Given the description of an element on the screen output the (x, y) to click on. 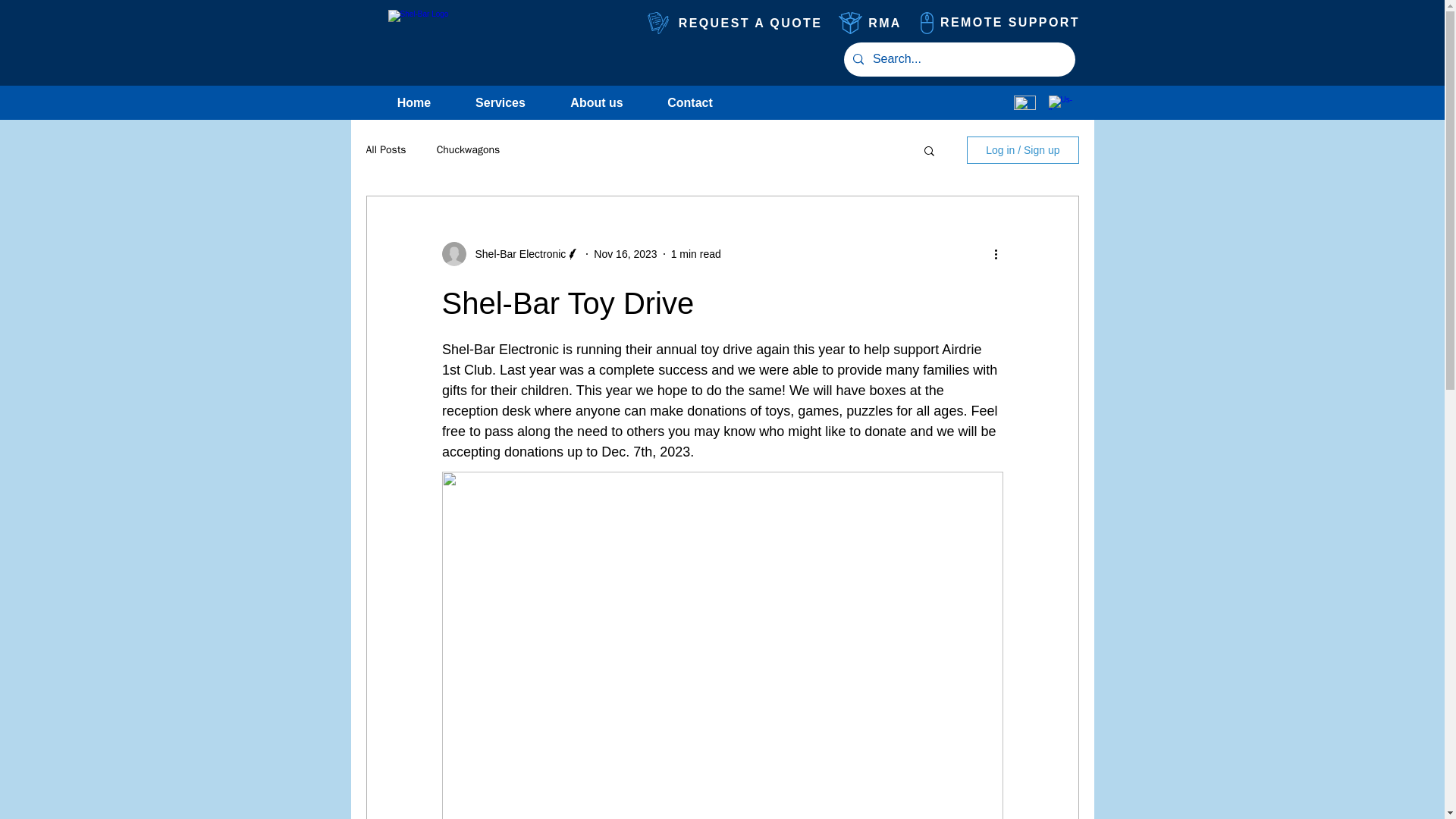
REQUEST A QUOTE (751, 23)
 Shel-Bar Electronic (515, 253)
RMA (885, 23)
1 min read (695, 253)
Contact (690, 102)
About us (596, 102)
Services (499, 102)
Home (413, 102)
Chuckwagons (468, 150)
REMOTE SUPPORT (1009, 22)
